Given the description of an element on the screen output the (x, y) to click on. 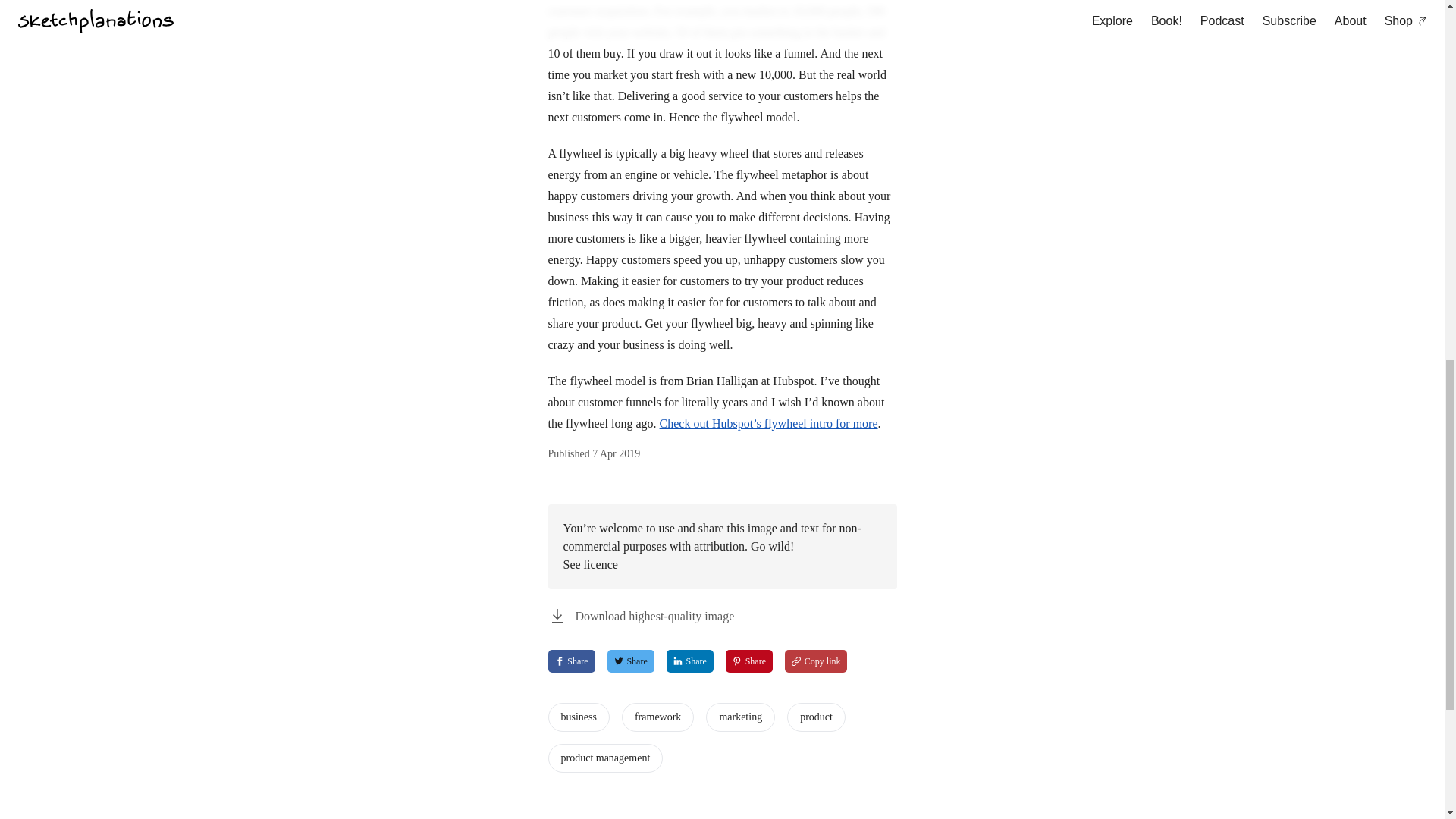
Download highest-quality image (570, 661)
marketing (640, 616)
framework (740, 717)
product (657, 717)
product management (816, 717)
business (604, 758)
Copy link (577, 717)
See licence (689, 661)
